Given the description of an element on the screen output the (x, y) to click on. 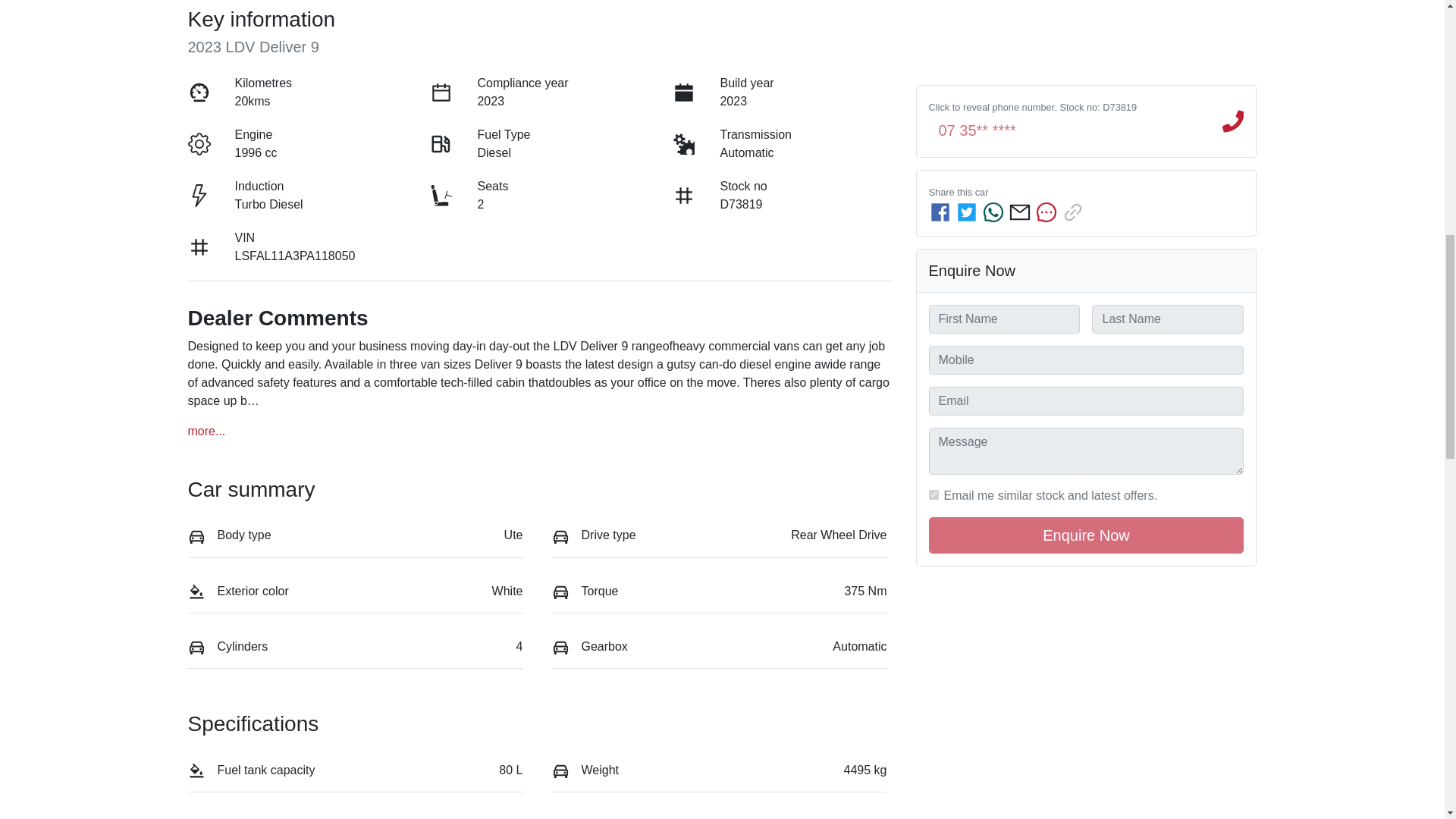
more... (206, 431)
on (932, 416)
